Given the description of an element on the screen output the (x, y) to click on. 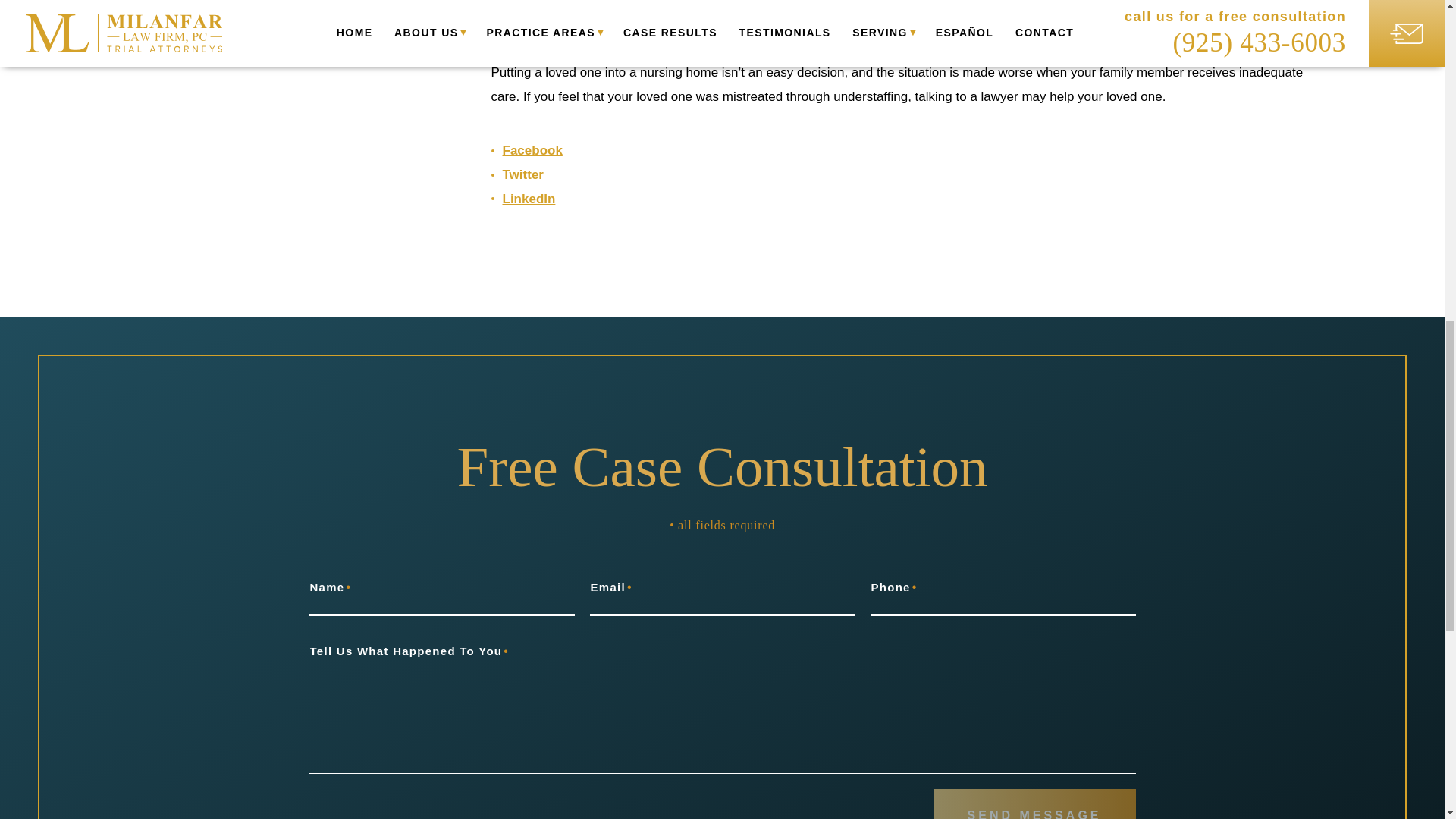
Twitter (522, 174)
LinkedIn (528, 198)
Facebook (532, 150)
